Given the description of an element on the screen output the (x, y) to click on. 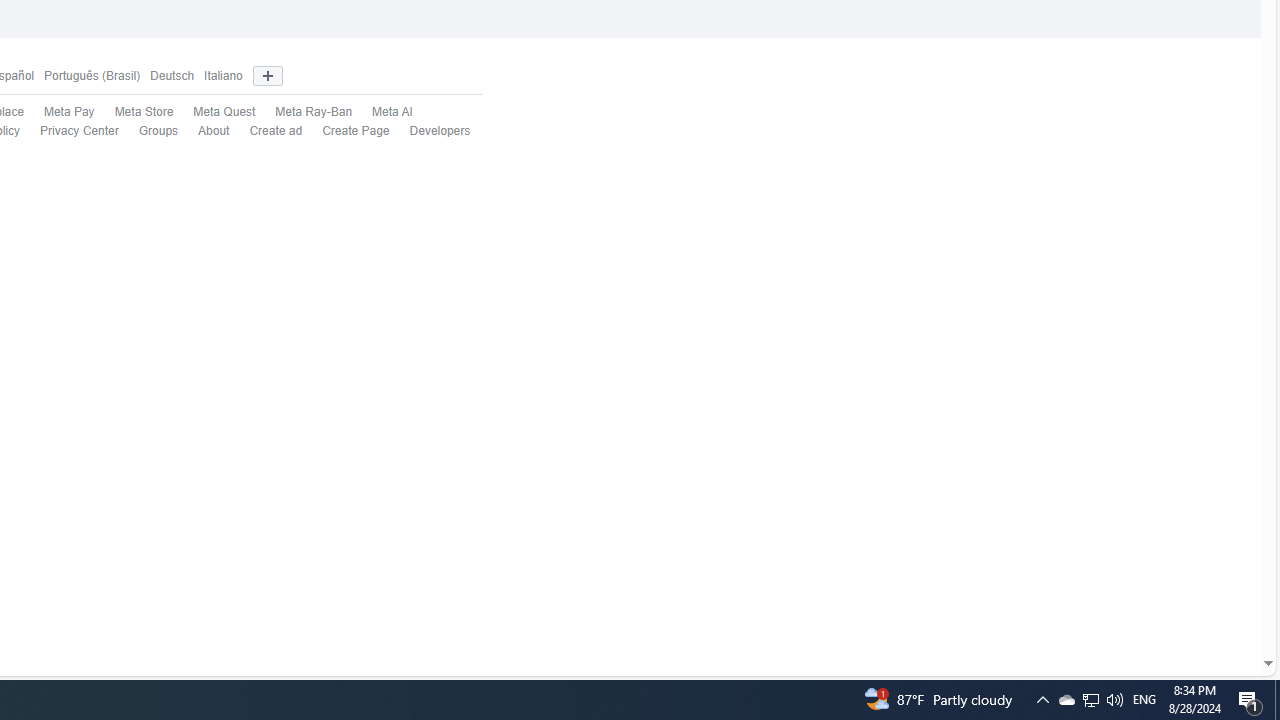
Italiano (218, 75)
Meta Quest (214, 112)
Groups (148, 131)
About (214, 130)
Meta Store (143, 112)
Meta AI (382, 112)
Groups (158, 130)
Create Page (346, 131)
Create ad (266, 131)
Meta Pay (58, 112)
About (203, 131)
Deutsch (166, 75)
Create Page (356, 130)
